Given the description of an element on the screen output the (x, y) to click on. 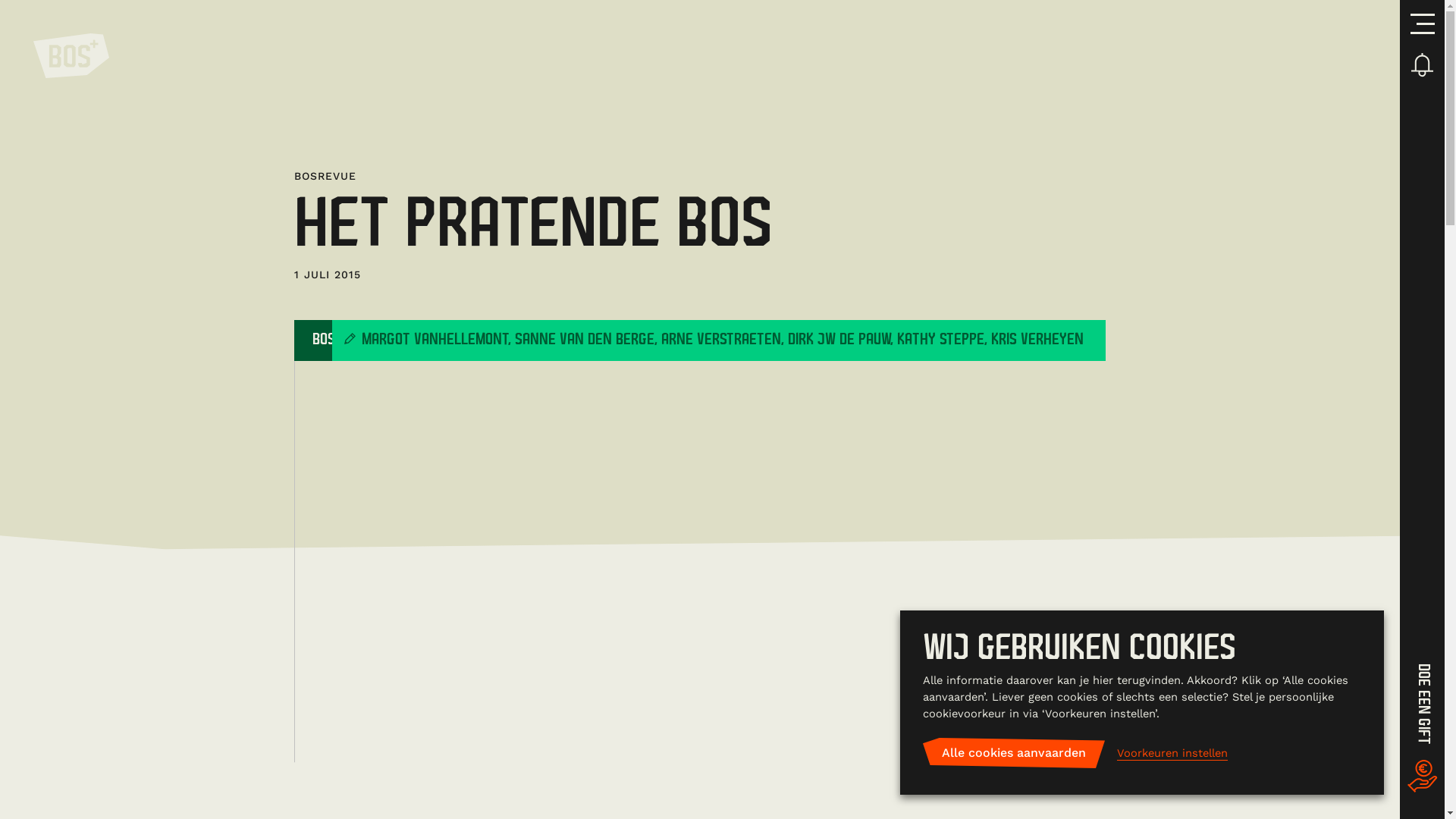
Voorkeuren instellen Element type: text (1172, 753)
Menu Element type: hover (1421, 25)
DOE EEN GIFT Element type: text (1421, 728)
BOSREVUE Element type: text (342, 340)
Updates Element type: hover (1421, 65)
Alle cookies aanvaarden Element type: text (1013, 752)
BOS+ Element type: hover (71, 58)
